Given the description of an element on the screen output the (x, y) to click on. 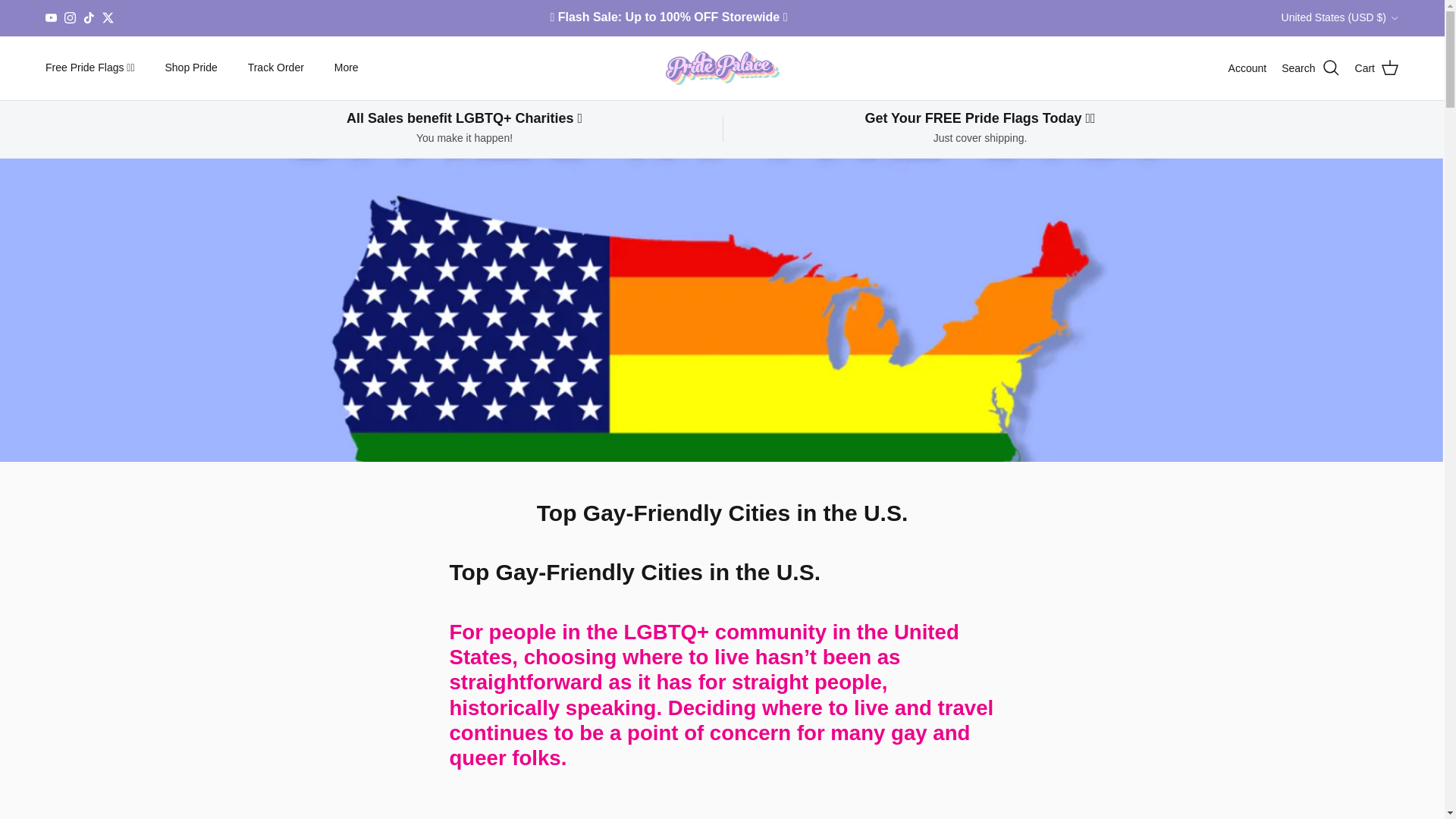
Pride Palace on YouTube (50, 17)
Pride Palace (721, 68)
More (346, 67)
Track Order (275, 67)
Pride Palace on Twitter (107, 17)
Pride Palace on TikTok (88, 17)
YouTube (50, 17)
Pride Palace on Instagram (69, 17)
Twitter (107, 17)
Instagram (69, 17)
